Given the description of an element on the screen output the (x, y) to click on. 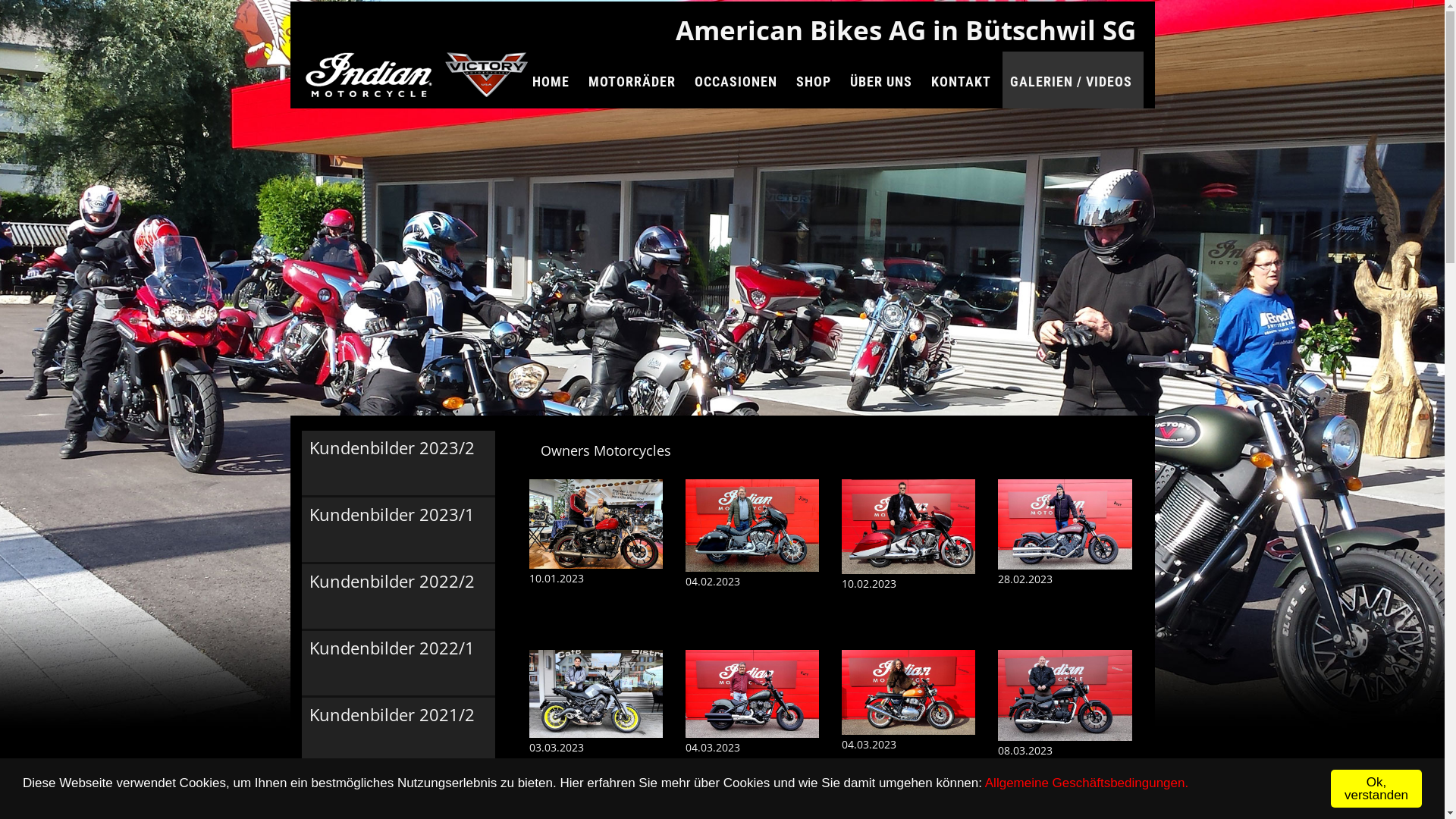
Kundenbilder 2023/1 Element type: text (391, 525)
Kundenbilder 2023/2 Element type: text (391, 459)
SHOP Element type: text (815, 79)
Kundenbilder 2022/2 Element type: text (391, 592)
04.02.2023 Element type: text (752, 557)
Owners Motorcycles Element type: text (604, 450)
Kundenbilder 2021/2 Element type: text (391, 726)
GALERIEN / VIDEOS Element type: text (1072, 79)
Ok, verstanden Element type: text (1375, 788)
HOME Element type: text (552, 79)
Kundenbilder 2021/1 Element type: text (391, 792)
04.03.2023 Element type: text (908, 724)
10.01.2023 Element type: text (595, 556)
10.02.2023 Element type: text (908, 558)
OCCASIONEN Element type: text (737, 79)
28.02.2023 Element type: text (1064, 556)
04.03.2023 Element type: text (752, 725)
KONTAKT Element type: text (962, 79)
Kundenbilder 2022/1 Element type: text (391, 659)
08.03.2023 Element type: text (1064, 727)
03.03.2023 Element type: text (595, 725)
